Given the description of an element on the screen output the (x, y) to click on. 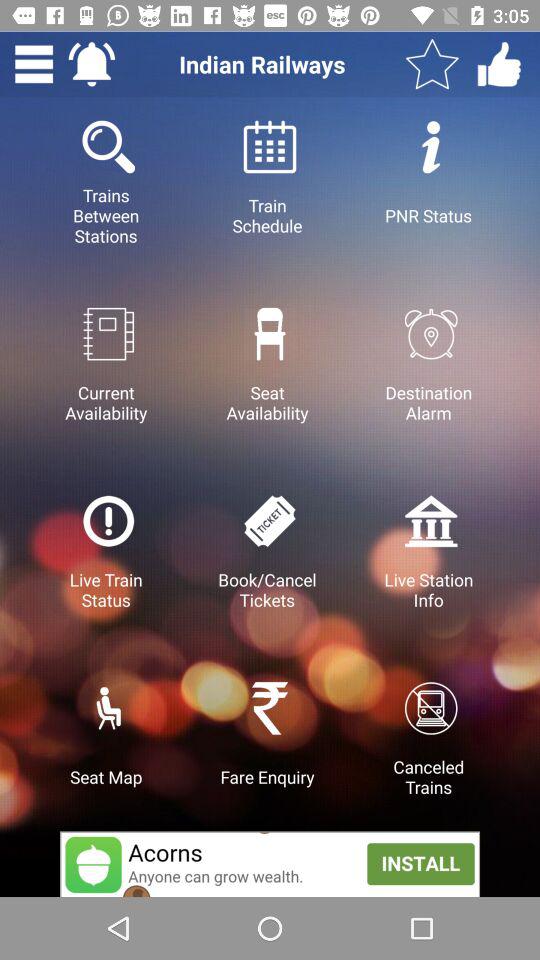
select star icon on the top right of the page (432, 64)
